Given the description of an element on the screen output the (x, y) to click on. 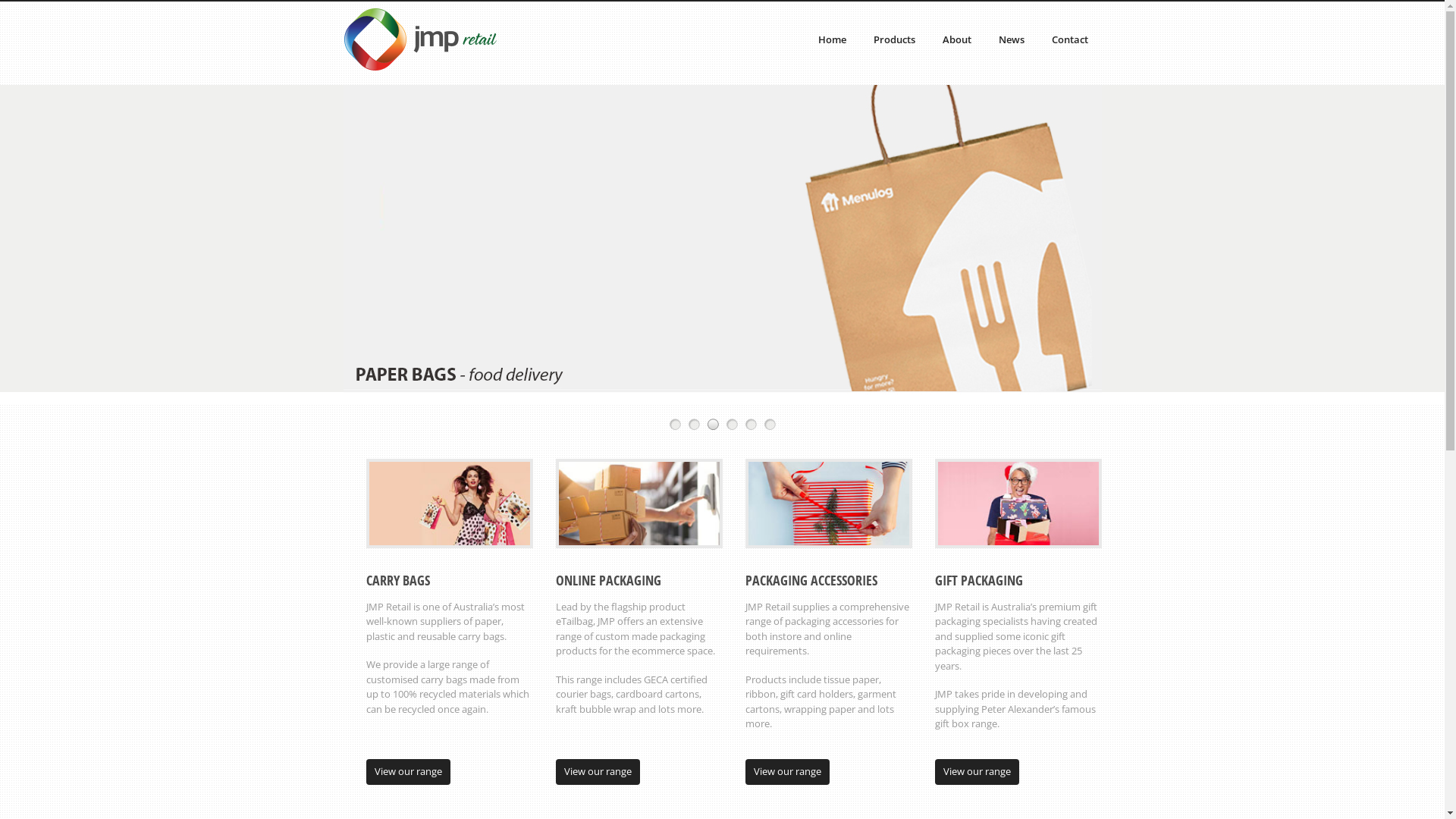
View our range Element type: text (407, 771)
View our range Element type: text (597, 771)
View our range Element type: text (786, 771)
6 Element type: text (769, 423)
About Element type: text (956, 39)
PACKAGING ACCESSORIES Element type: text (810, 580)
View our range Element type: text (976, 771)
CARRY BAGS Element type: text (397, 580)
5 Element type: text (750, 423)
GIFT PACKAGING Element type: text (978, 580)
2 Element type: text (693, 423)
News Element type: text (1010, 39)
4 Element type: text (731, 423)
3 Element type: text (712, 423)
ONLINE PACKAGING Element type: text (607, 580)
Food Delivery Bags Element type: hover (721, 252)
Products Element type: text (893, 39)
1 Element type: text (674, 423)
Contact Element type: text (1069, 39)
Home Element type: text (831, 39)
